Given the description of an element on the screen output the (x, y) to click on. 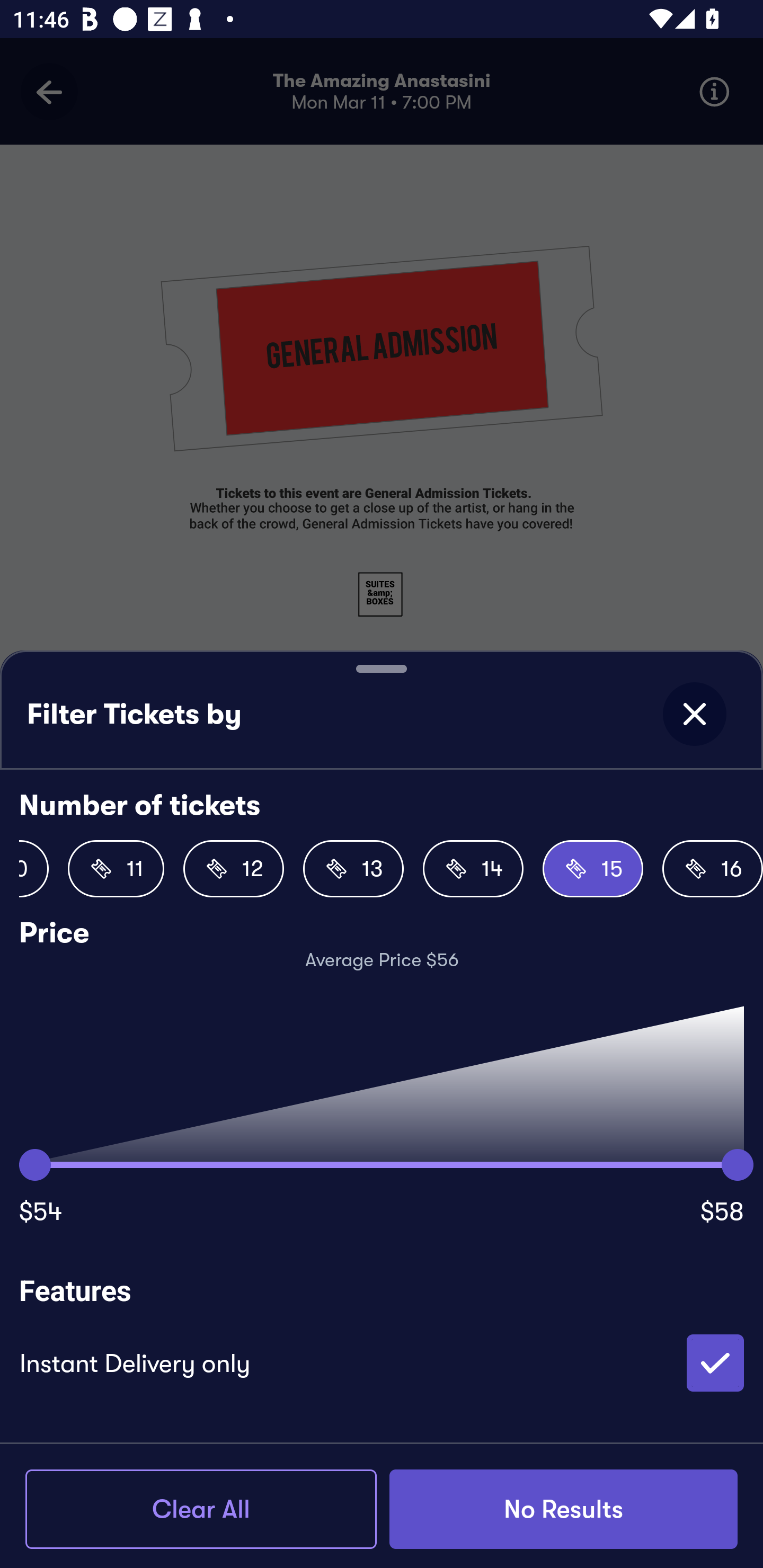
close (694, 714)
11 (115, 868)
12 (233, 868)
13 (352, 868)
14 (472, 868)
15 (592, 868)
16 (712, 868)
Clear All (200, 1509)
No Results (563, 1509)
